Given the description of an element on the screen output the (x, y) to click on. 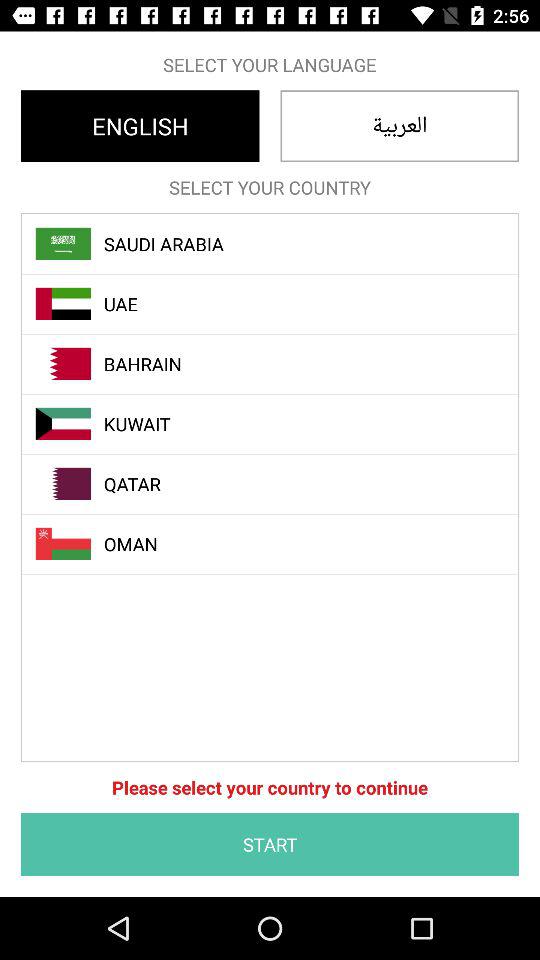
click uae icon (281, 303)
